Given the description of an element on the screen output the (x, y) to click on. 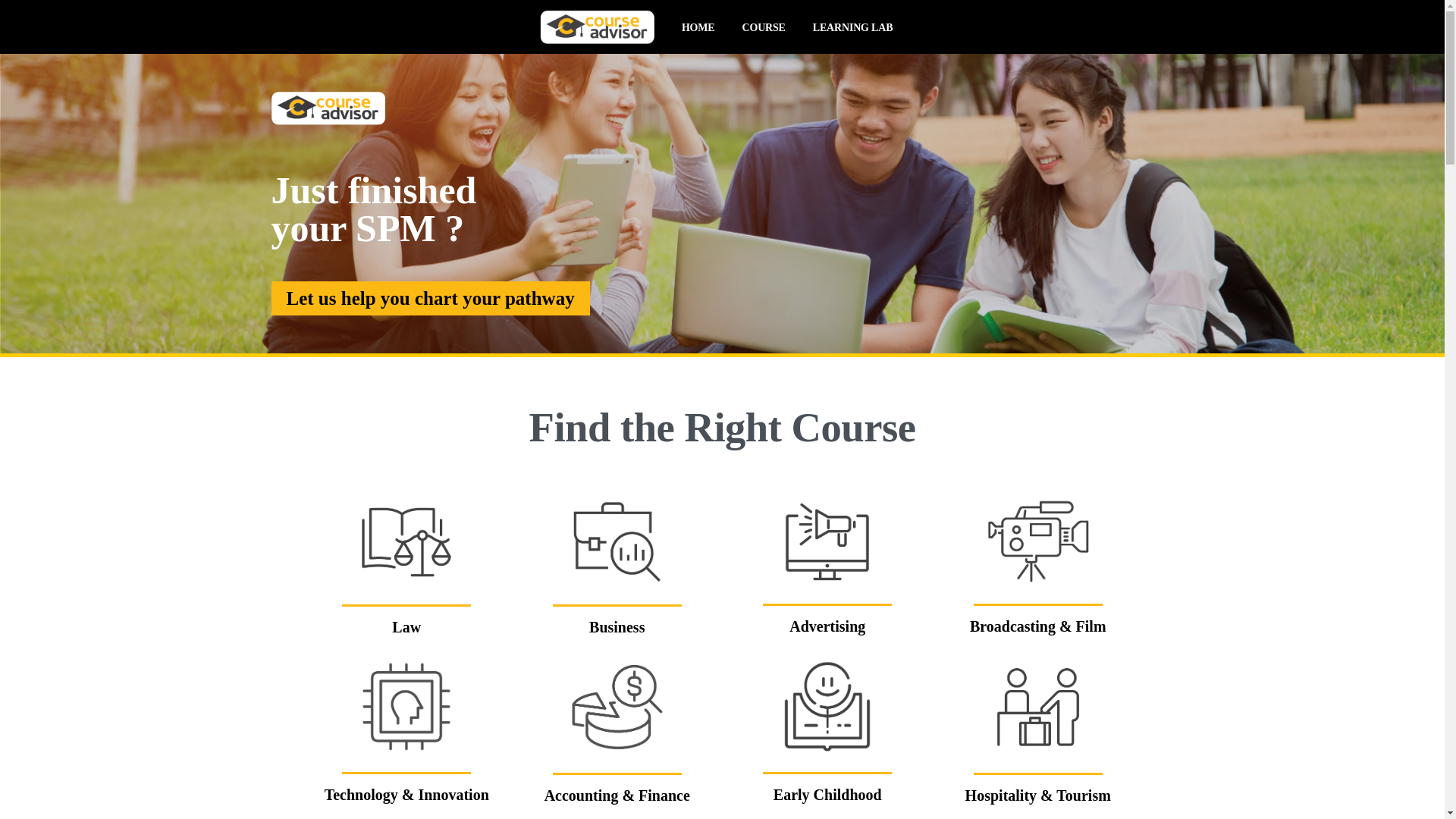
HOME (697, 26)
HOME (697, 26)
LEARNING LAB (852, 26)
COURSE (764, 26)
Law (406, 627)
LEARNING LAB (852, 26)
Advertising (827, 626)
Business (617, 627)
COURSE (764, 26)
Early Childhood (827, 794)
